Given the description of an element on the screen output the (x, y) to click on. 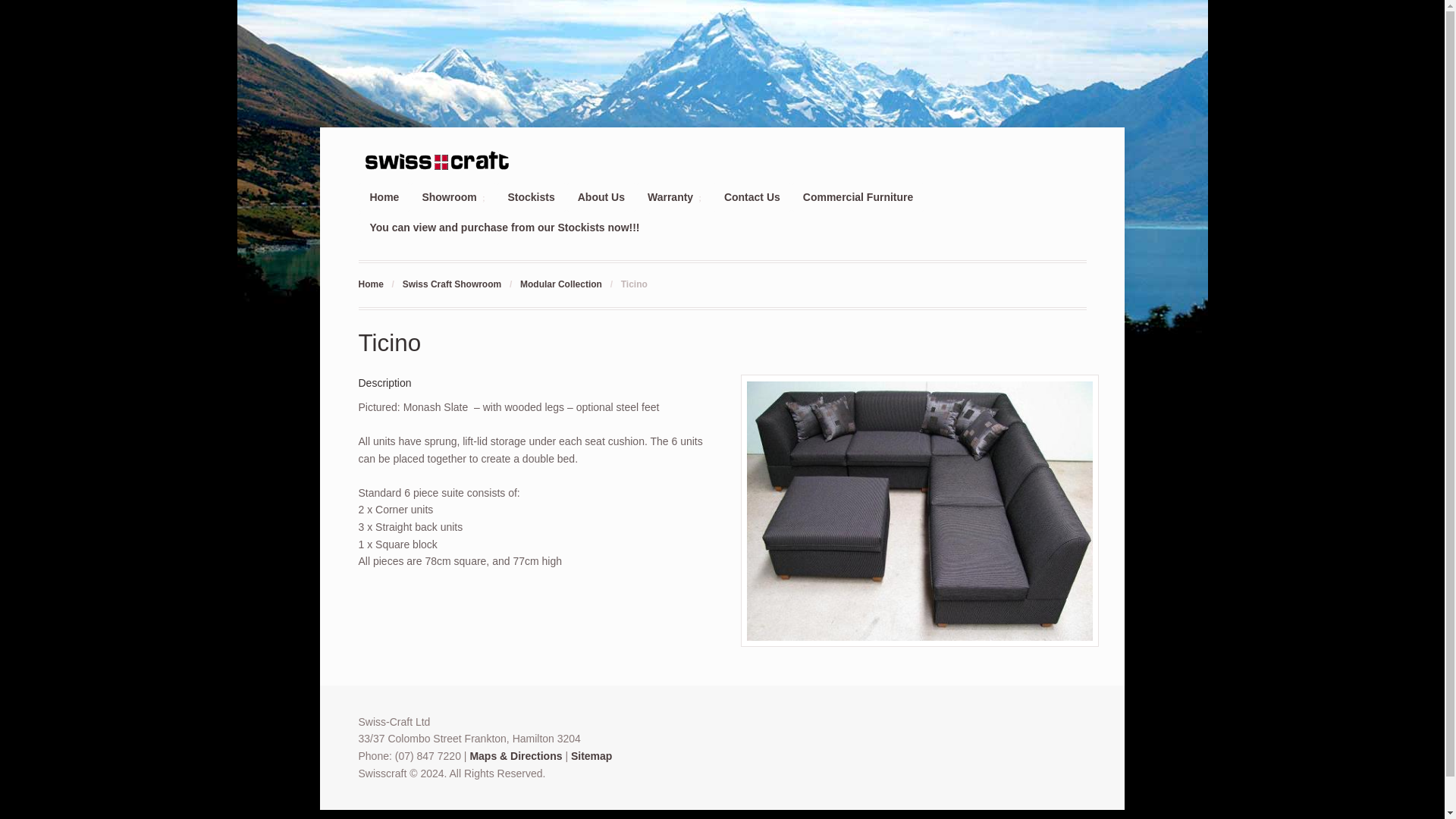
Warranty (674, 197)
Showroom (453, 197)
Stockists (531, 197)
Swiss Craft Showroom (452, 284)
About Us (601, 197)
Modular Collection (560, 284)
Swiss Craft Showroom (452, 284)
Modular Collection (560, 284)
Home (384, 197)
Contact Us (752, 197)
Home (370, 284)
You can view and purchase from our Stockists now!!! (504, 226)
Swisscraft (370, 284)
